Given the description of an element on the screen output the (x, y) to click on. 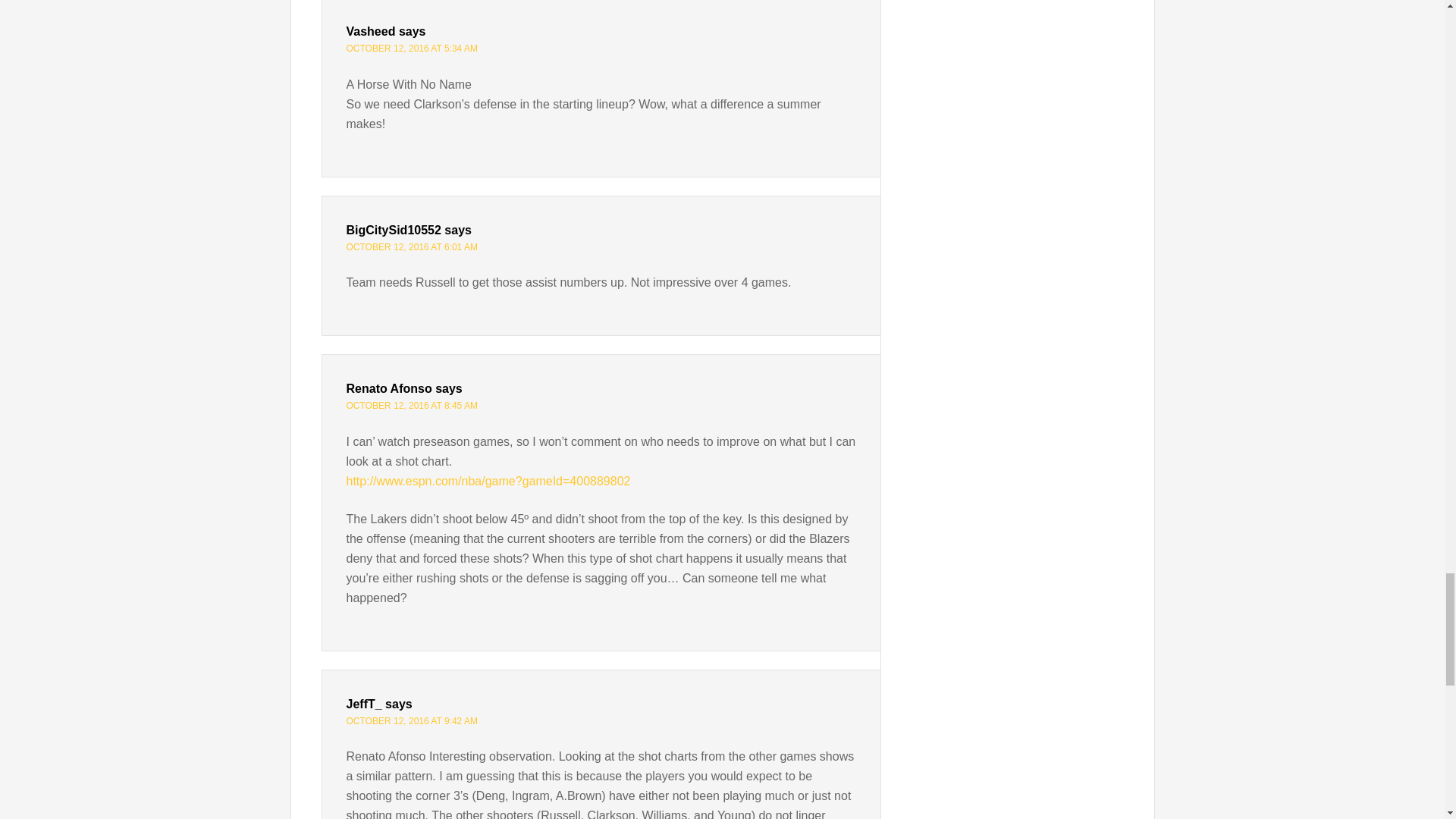
OCTOBER 12, 2016 AT 5:34 AM (411, 48)
